Given the description of an element on the screen output the (x, y) to click on. 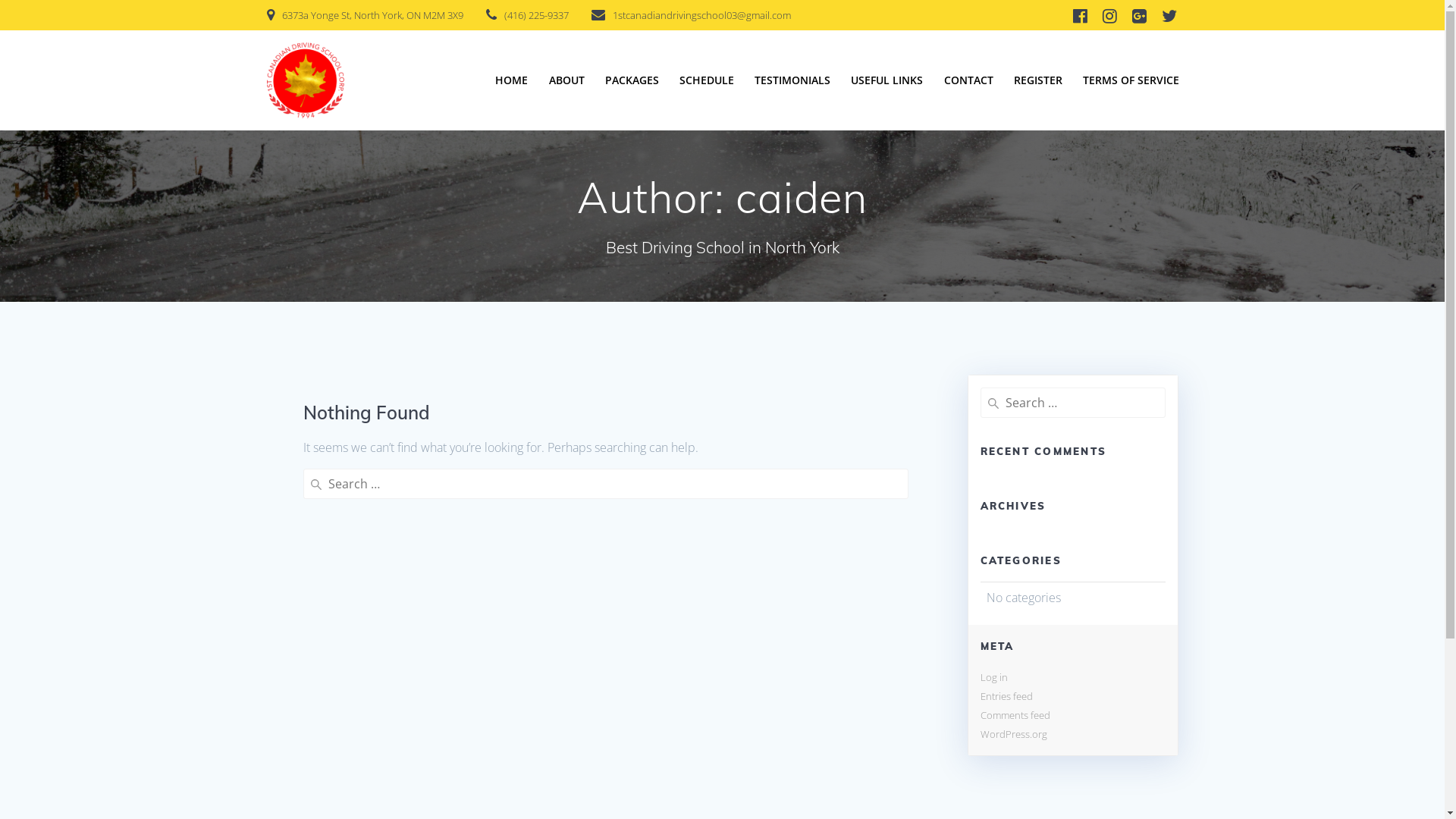
PACKAGES Element type: text (631, 79)
REGISTER Element type: text (1037, 79)
TERMS OF SERVICE Element type: text (1130, 79)
Entries feed Element type: text (1005, 695)
TESTIMONIALS Element type: text (792, 79)
CONTACT Element type: text (968, 79)
WordPress.org Element type: text (1012, 733)
Comments feed Element type: text (1014, 714)
SCHEDULE Element type: text (706, 79)
HOME Element type: text (511, 79)
Web Design by Caiden Media Element type: text (1072, 729)
Log in Element type: text (993, 677)
USEFUL LINKS Element type: text (886, 79)
ABOUT Element type: text (566, 79)
